Given the description of an element on the screen output the (x, y) to click on. 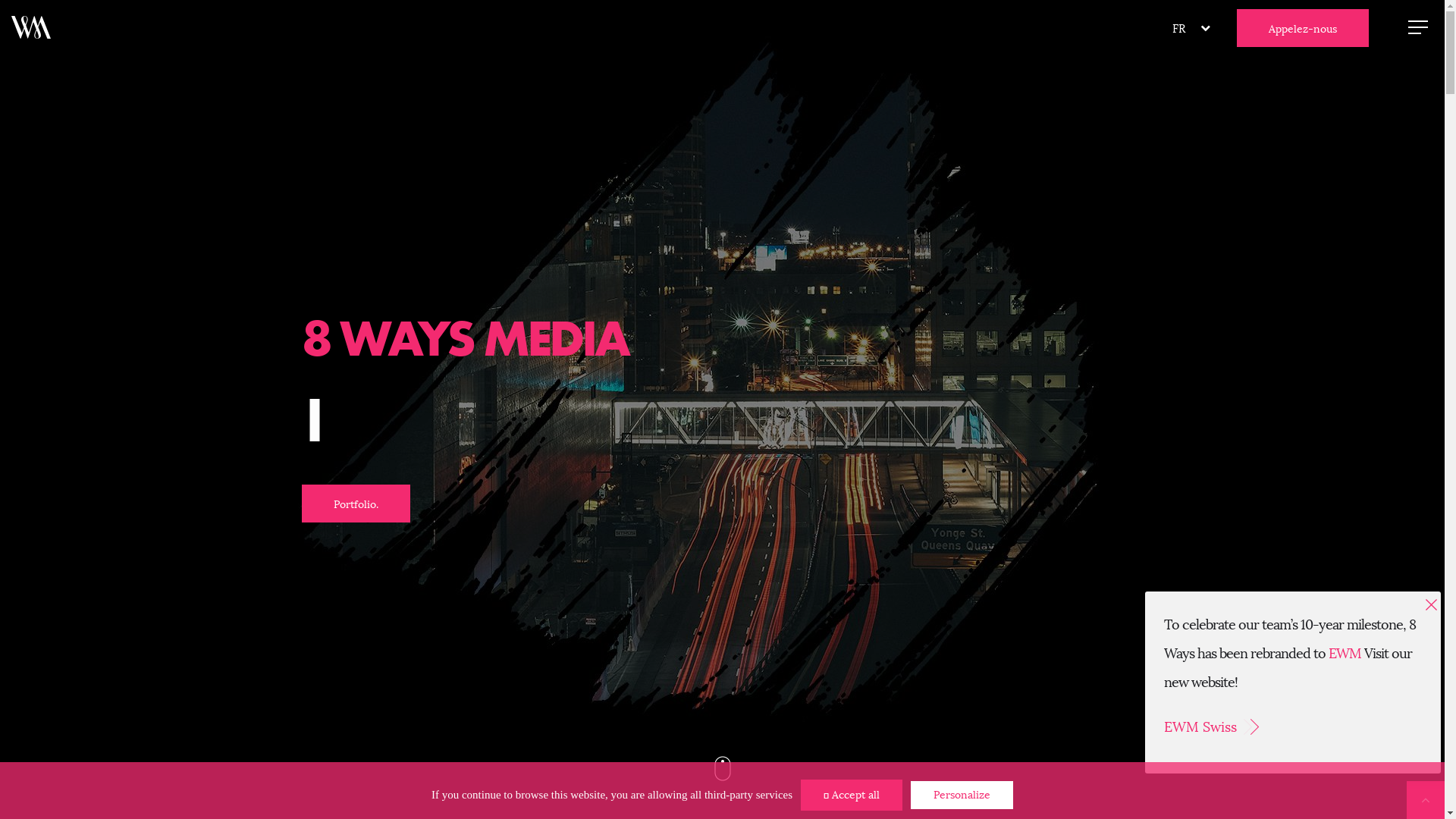
FR Element type: text (1178, 27)
8 Ways Media Element type: hover (30, 26)
Personalize Element type: text (961, 795)
Portfolio. Element type: text (355, 502)
EWM Element type: text (1344, 653)
Appelez-nous Element type: text (1302, 28)
EWM Swiss Element type: text (1292, 730)
Open / Close Menu Element type: hover (1417, 26)
